Given the description of an element on the screen output the (x, y) to click on. 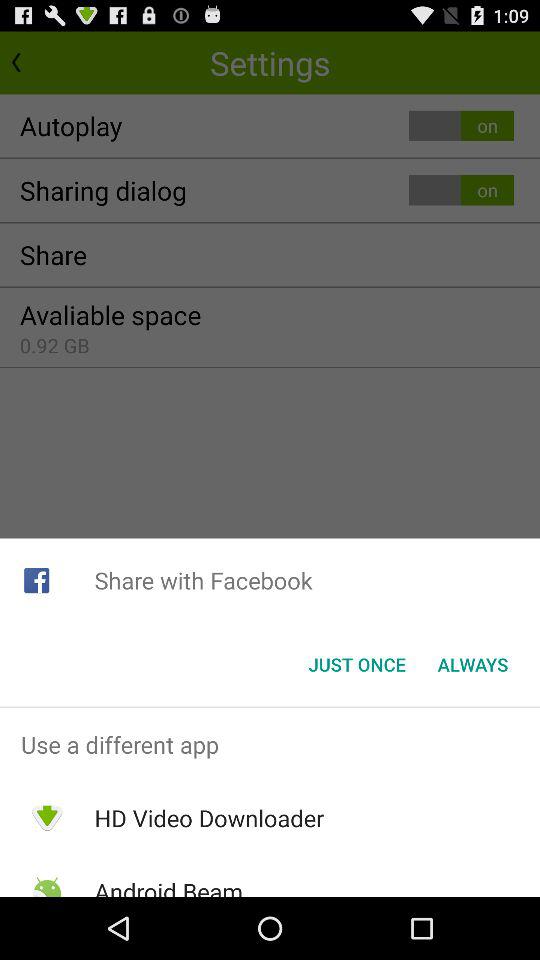
jump to just once icon (356, 664)
